Given the description of an element on the screen output the (x, y) to click on. 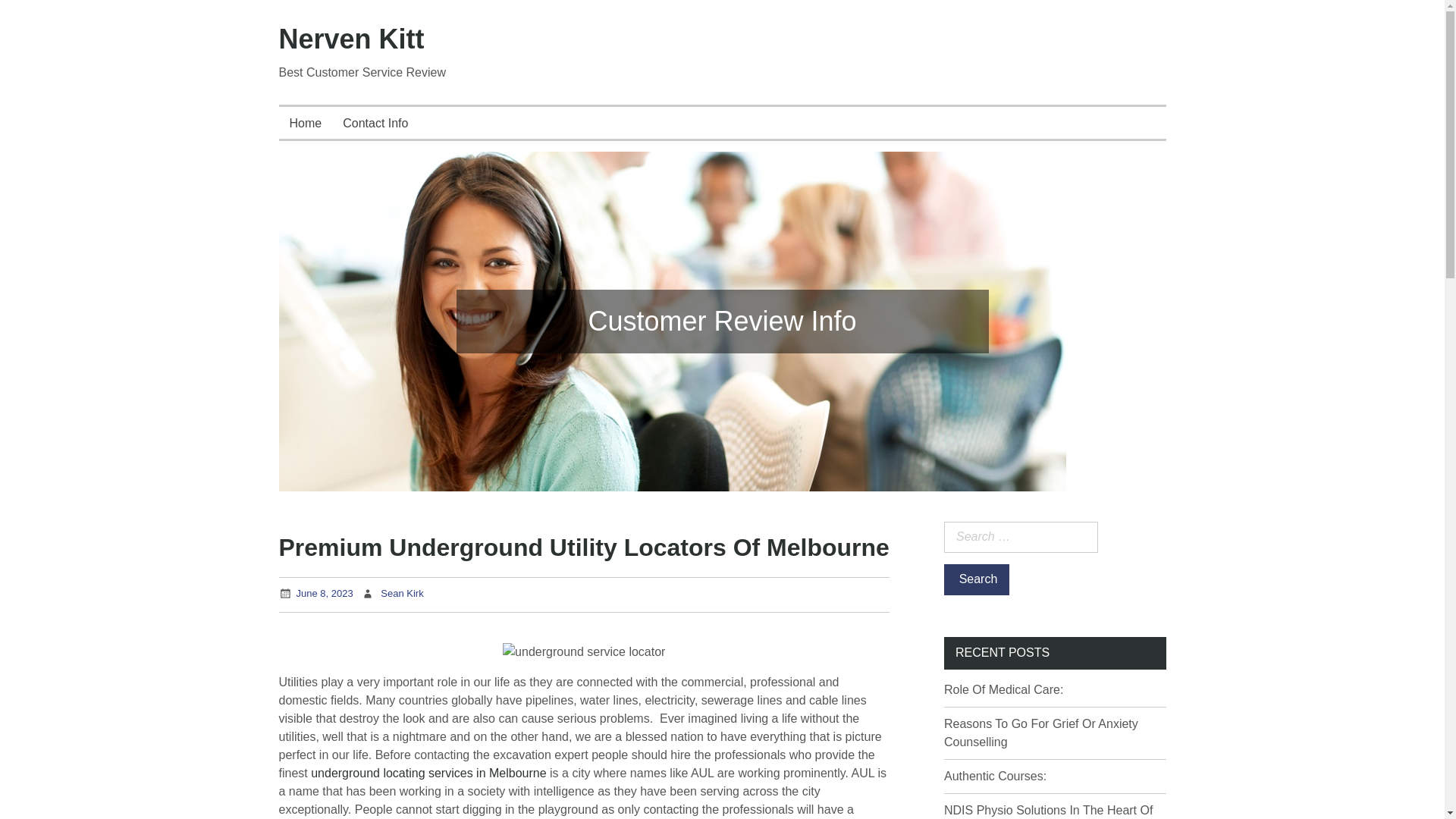
Home (306, 122)
June 8, 2023 (323, 593)
underground service locator  (583, 651)
underground locating services in Melbourne (428, 772)
Contact Info (375, 122)
Search (976, 579)
underground locating services in Melbourne (428, 772)
Authentic Courses: (994, 775)
Nerven Kitt (352, 38)
NDIS Physio Solutions In The Heart Of Burwood (1048, 811)
Search (976, 579)
Reasons To Go For Grief Or Anxiety Counselling (1040, 732)
Search (976, 579)
Role Of Medical Care: (1002, 689)
